Given the description of an element on the screen output the (x, y) to click on. 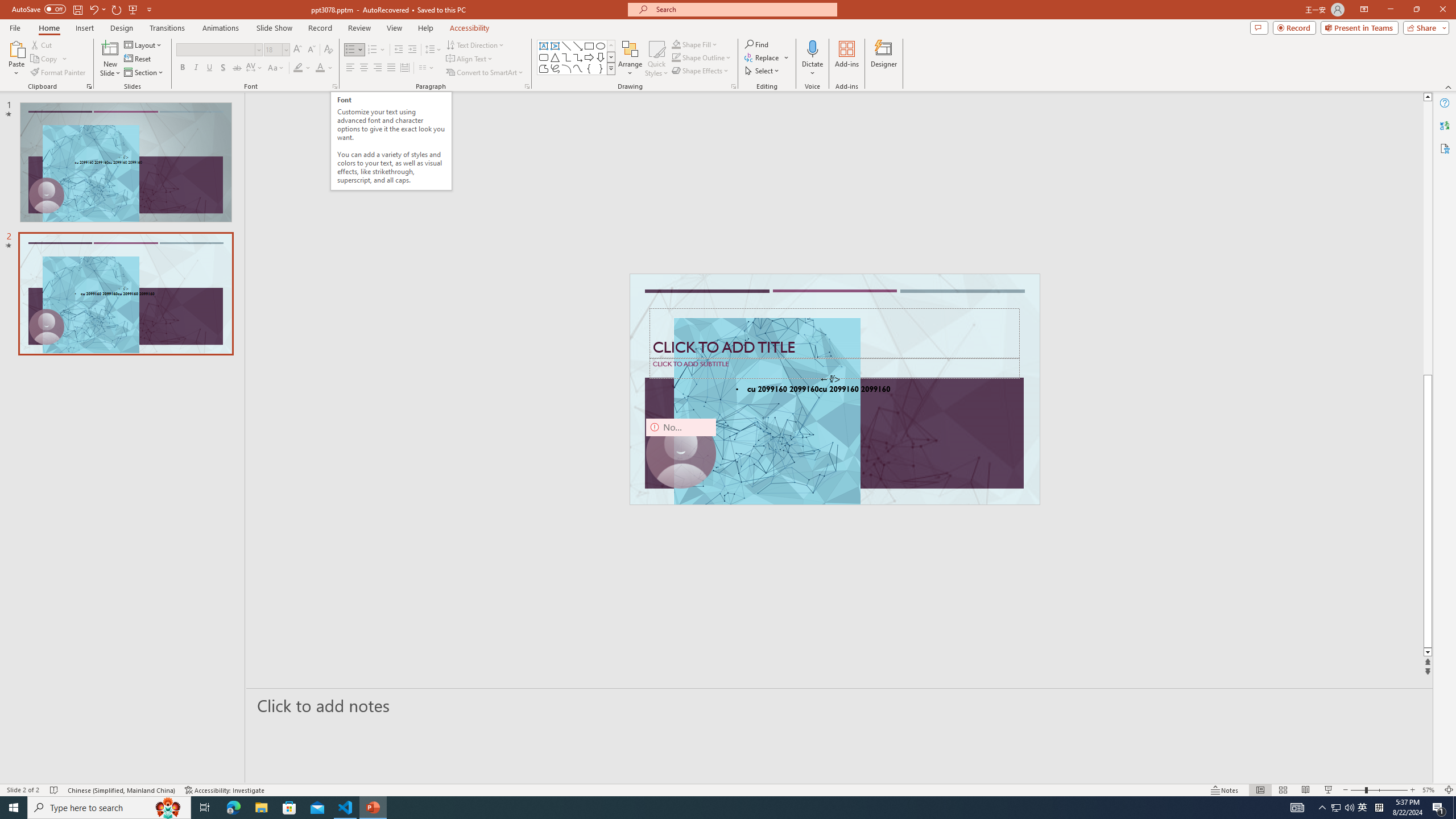
Translator (1444, 125)
Slide Show (273, 28)
Close (1442, 9)
Font Color (324, 67)
Shape Fill Dark Green, Accent 2 (675, 44)
Home (48, 28)
Layout (143, 44)
Text Box (543, 45)
Connector: Elbow Arrow (577, 57)
Freeform: Scribble (554, 68)
Bullets (349, 49)
Help (1444, 102)
Text Highlight Color Yellow (297, 67)
Ribbon Display Options (1364, 9)
Save (77, 9)
